Given the description of an element on the screen output the (x, y) to click on. 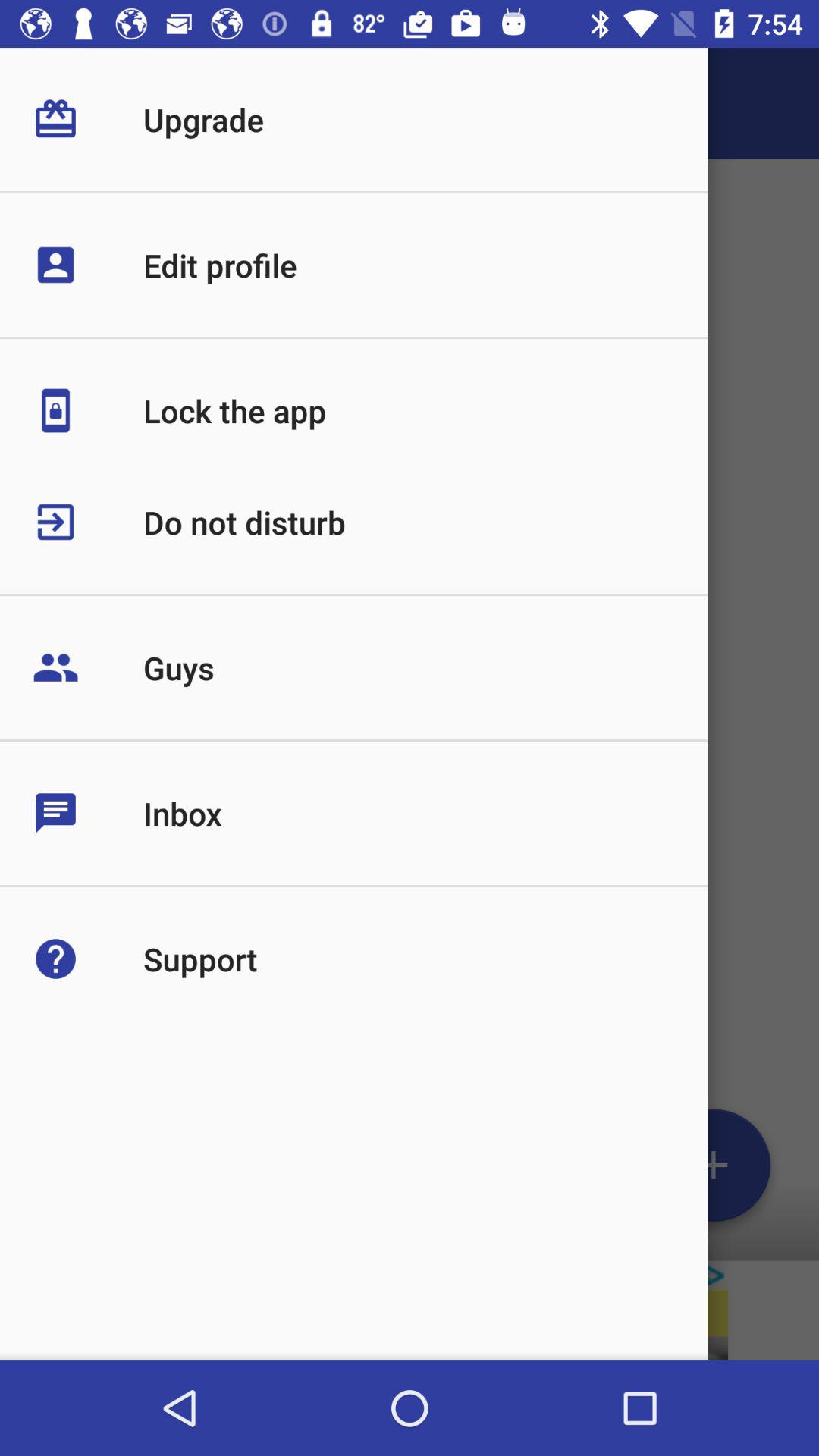
go to icon beside inbox (87, 813)
select the symbol which is to the left of guys (87, 667)
